Given the description of an element on the screen output the (x, y) to click on. 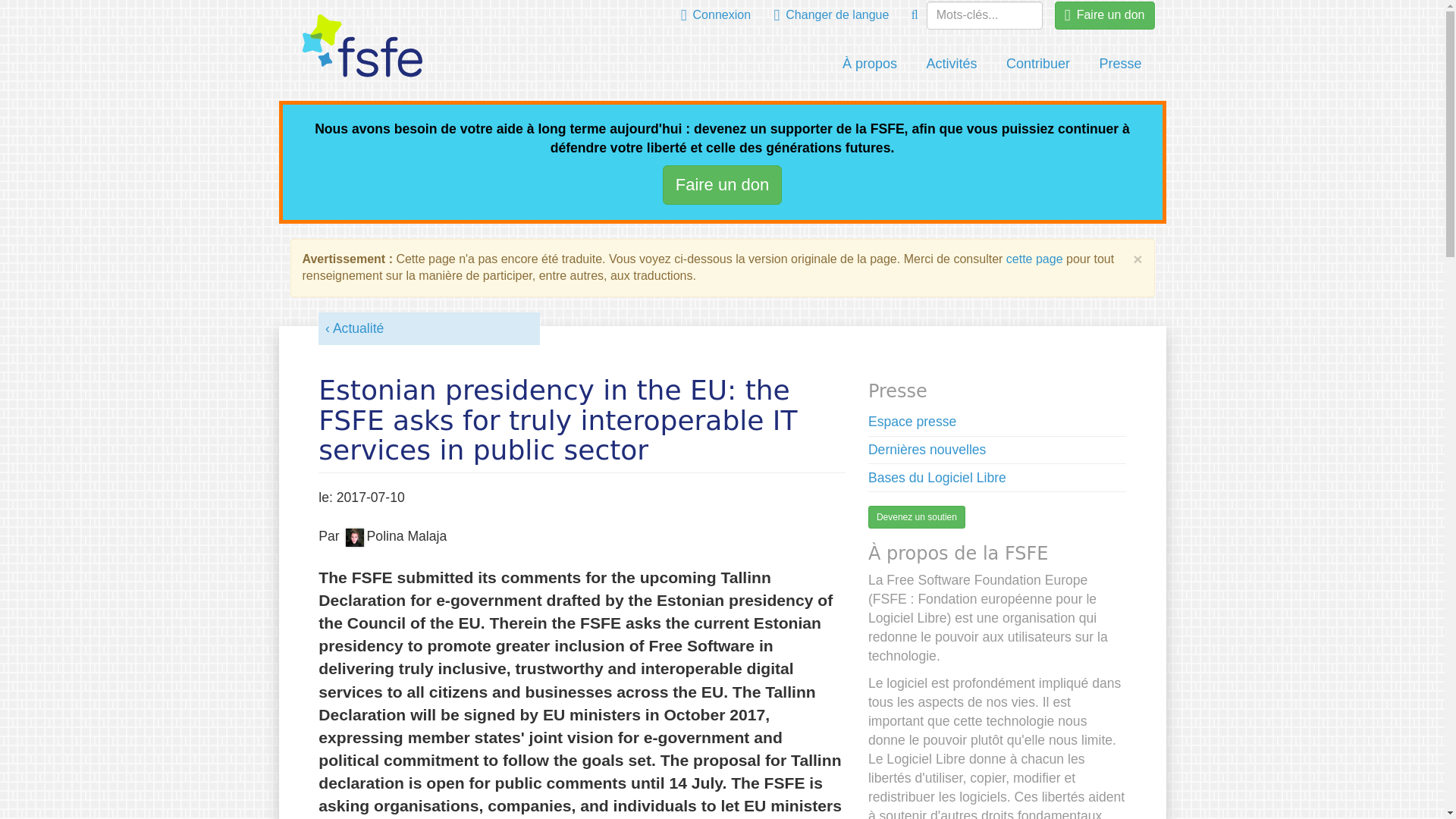
Presse (1120, 63)
Bases du Logiciel Libre (936, 477)
Espace presse (911, 421)
Faire un don (722, 184)
Faire un don (1104, 15)
cette page (1034, 257)
Connexion (715, 15)
Devenez un soutien (916, 517)
Changer de langue (831, 15)
Contribuer (1037, 63)
